Given the description of an element on the screen output the (x, y) to click on. 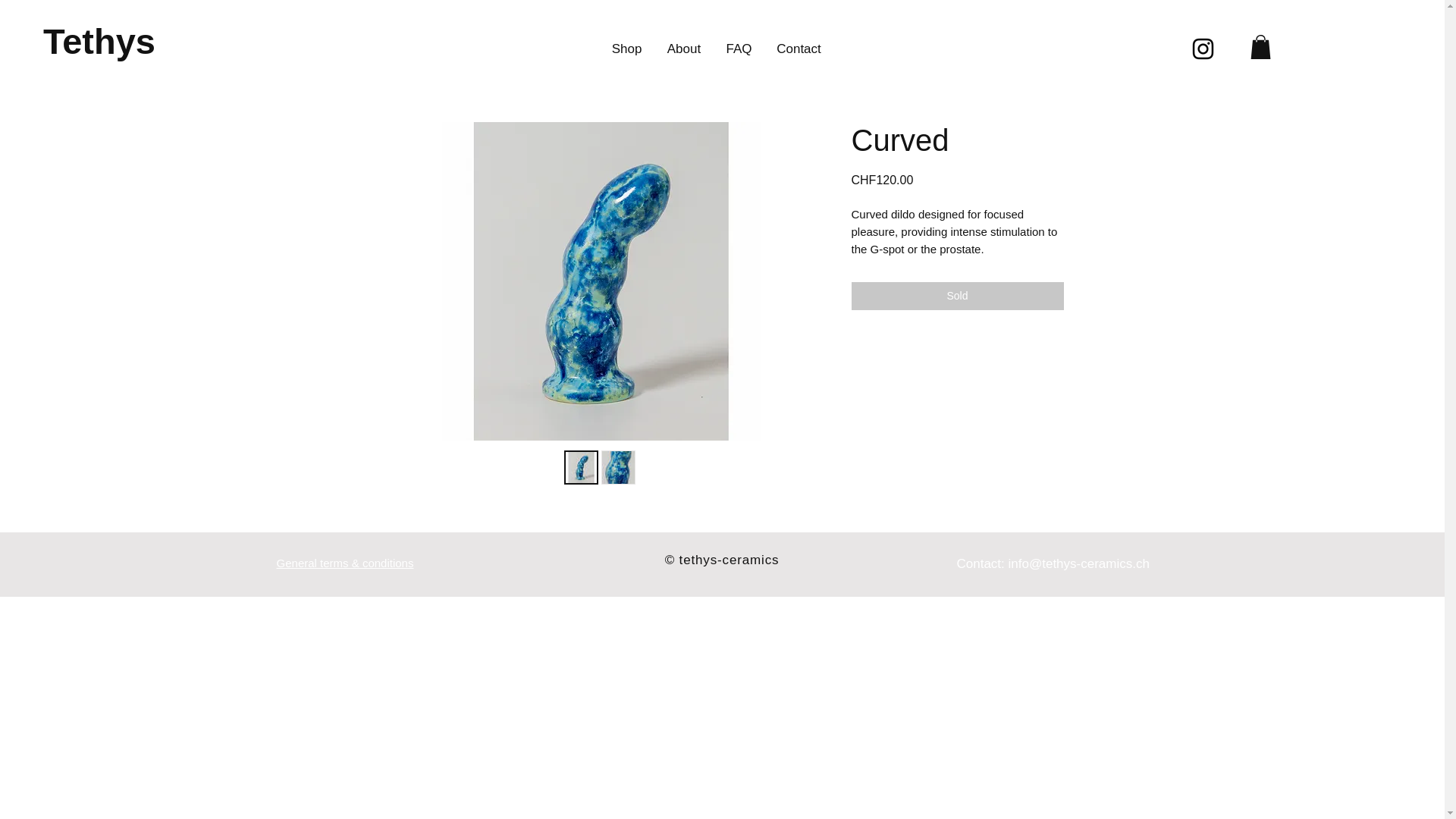
Sold (956, 295)
Tethys (99, 41)
Shop (626, 48)
FAQ (738, 48)
About (683, 48)
Contact (798, 48)
